Given the description of an element on the screen output the (x, y) to click on. 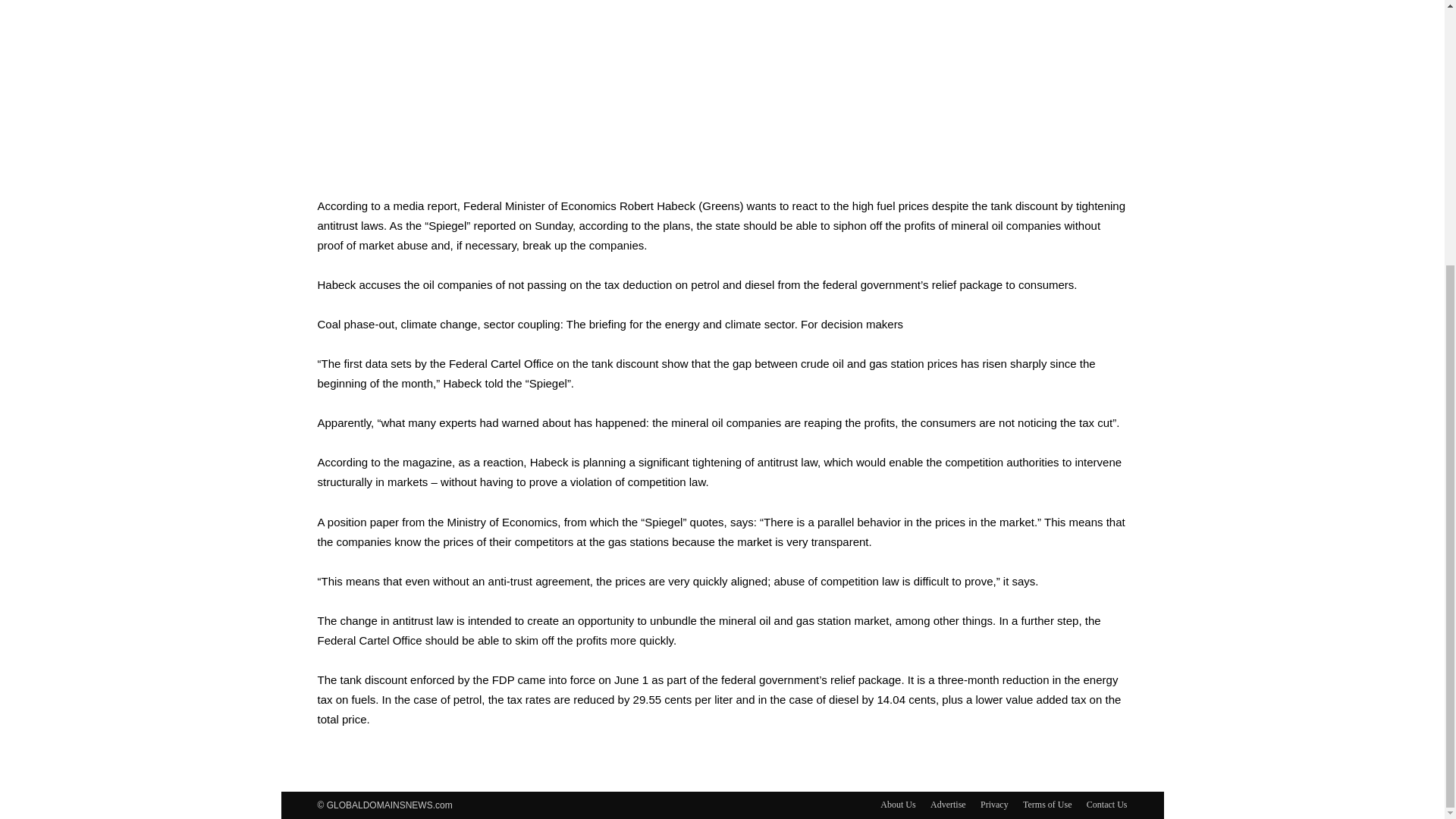
Privacy (994, 804)
Advertise (948, 804)
Contact Us (1106, 804)
Terms of Use (1047, 804)
About Us (897, 804)
